Given the description of an element on the screen output the (x, y) to click on. 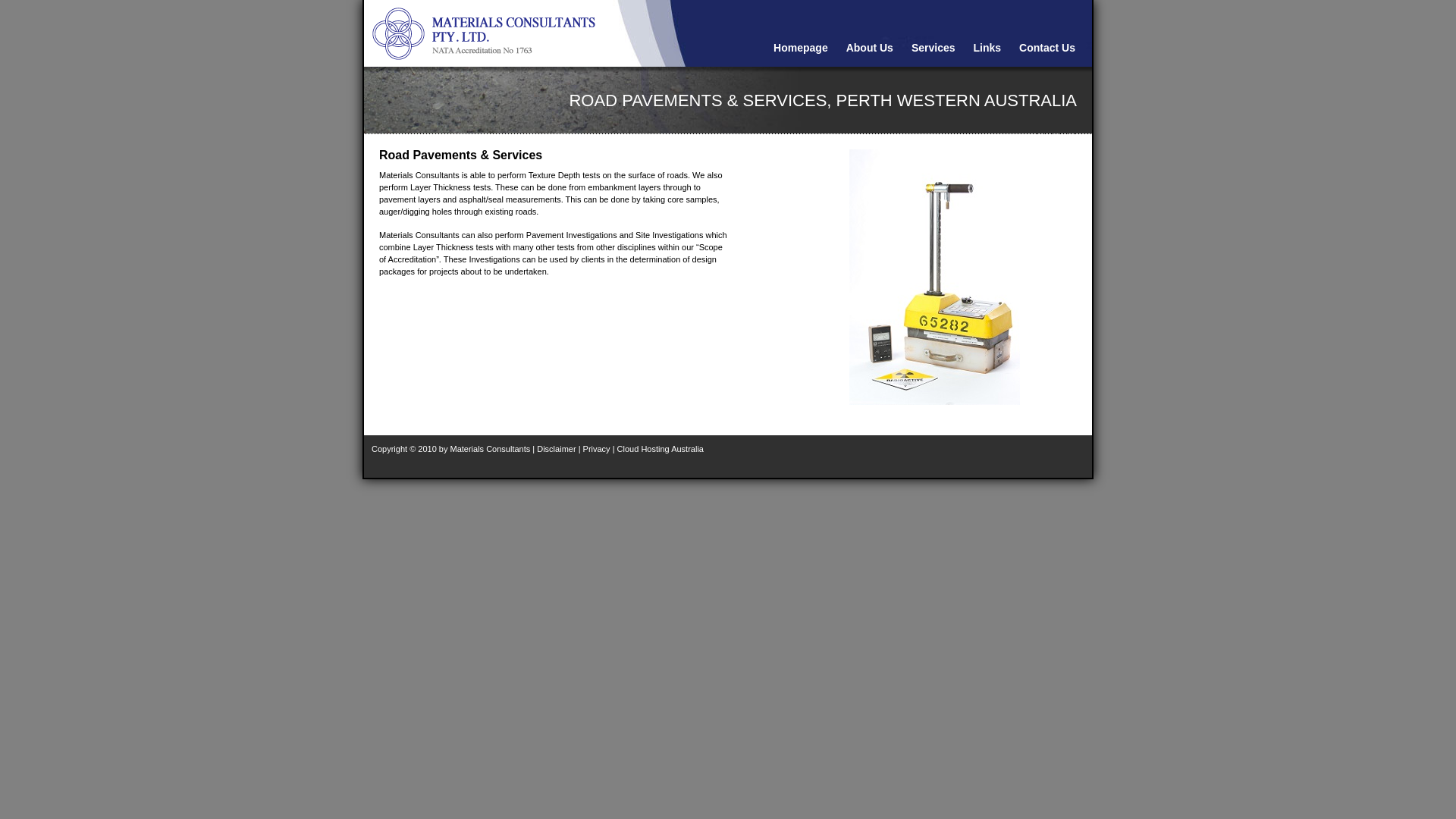
Cloud Hosting Australia Element type: text (660, 448)
About Us Element type: text (869, 47)
Contact Us Element type: text (1047, 47)
Materials Consultants Element type: text (515, 33)
Links Element type: text (987, 47)
Homepage Element type: text (800, 47)
Privacy Element type: text (596, 448)
Disclaimer Element type: text (555, 448)
Services Element type: text (933, 47)
